Given the description of an element on the screen output the (x, y) to click on. 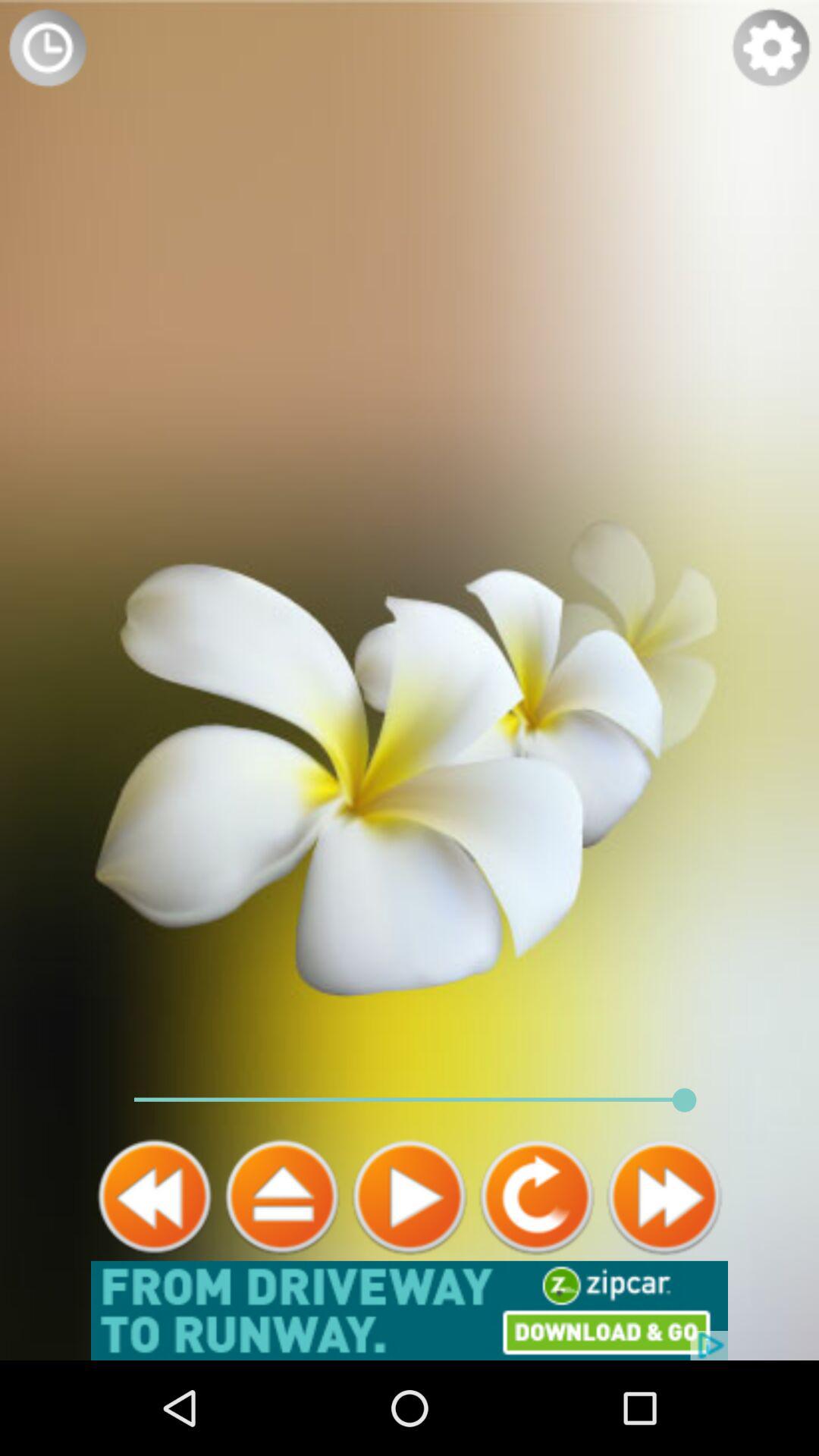
next button (664, 1196)
